Given the description of an element on the screen output the (x, y) to click on. 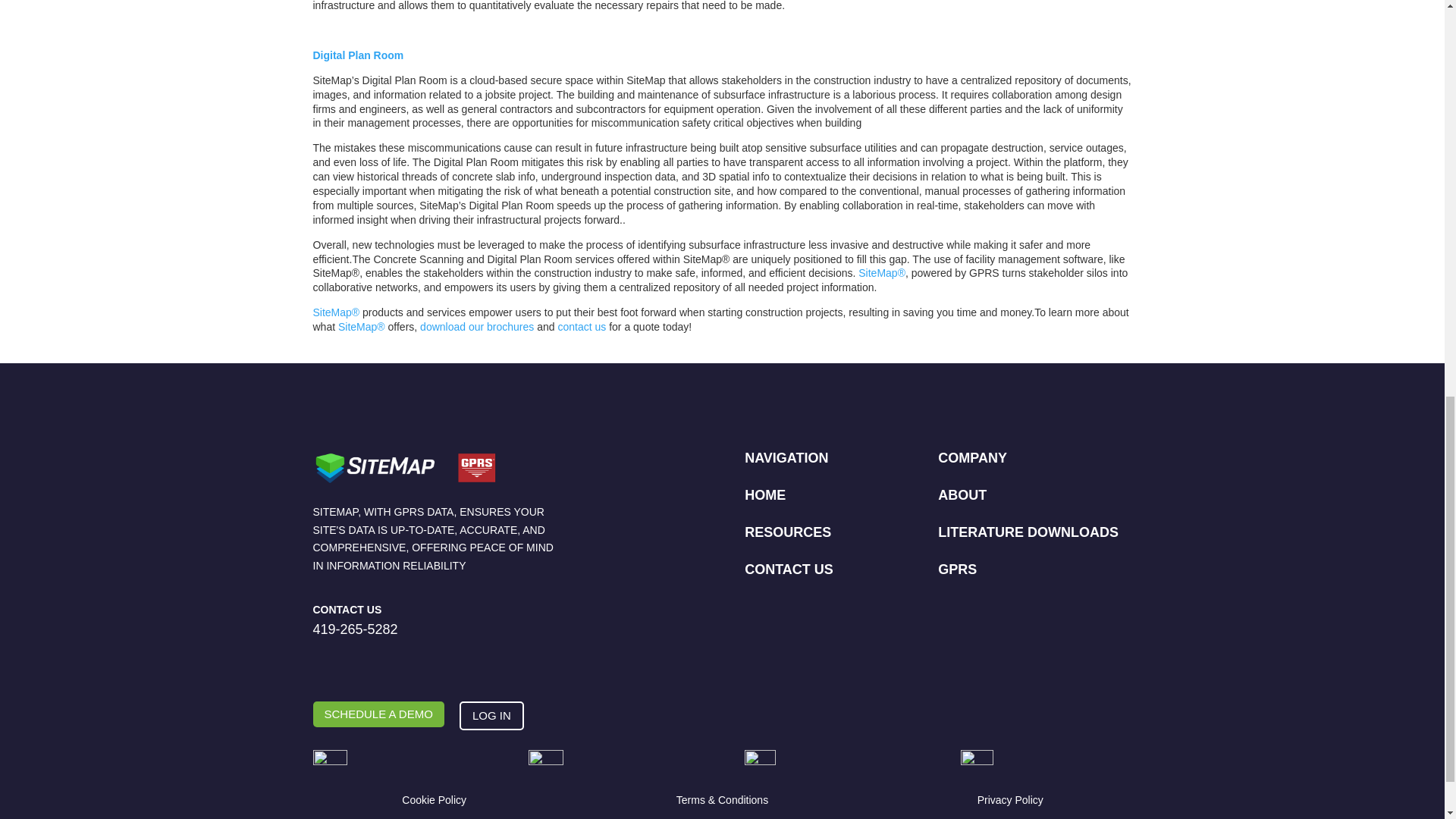
HOME (765, 494)
LITERATURE DOWNLOADS (1027, 531)
SCHEDULE A DEMO (378, 714)
RESOURCES (787, 531)
GPRS small (329, 768)
LOG IN (492, 716)
ABOUT (962, 494)
GPRS (956, 569)
CONTACT US (788, 569)
Digital Plan Room   (361, 55)
